Given the description of an element on the screen output the (x, y) to click on. 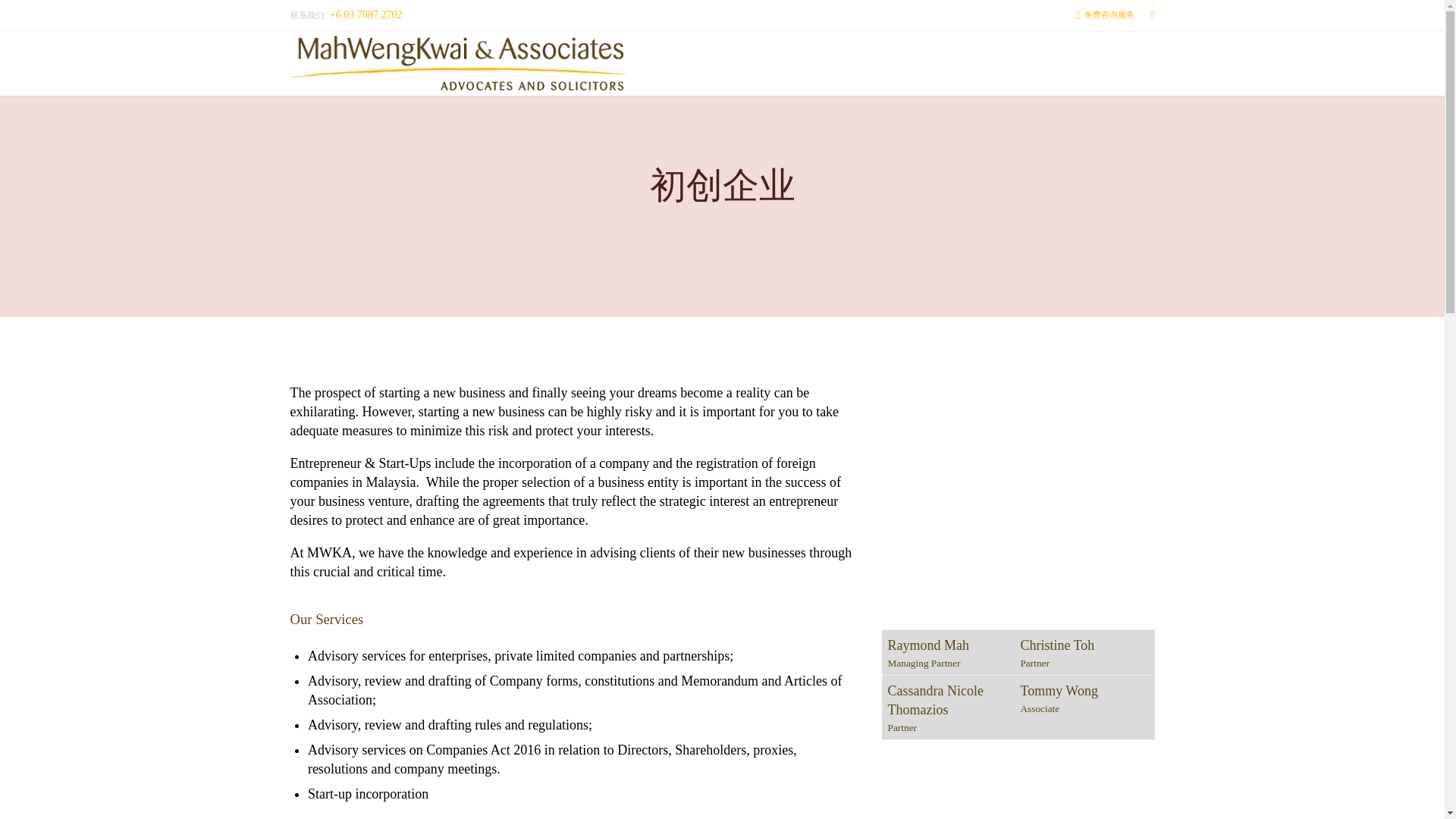
Cassandra Nicole Thomazios (934, 700)
Raymond Mah (927, 645)
Tommy Wong (1058, 690)
Christine Toh (1057, 645)
Chatbot (1391, 761)
